Given the description of an element on the screen output the (x, y) to click on. 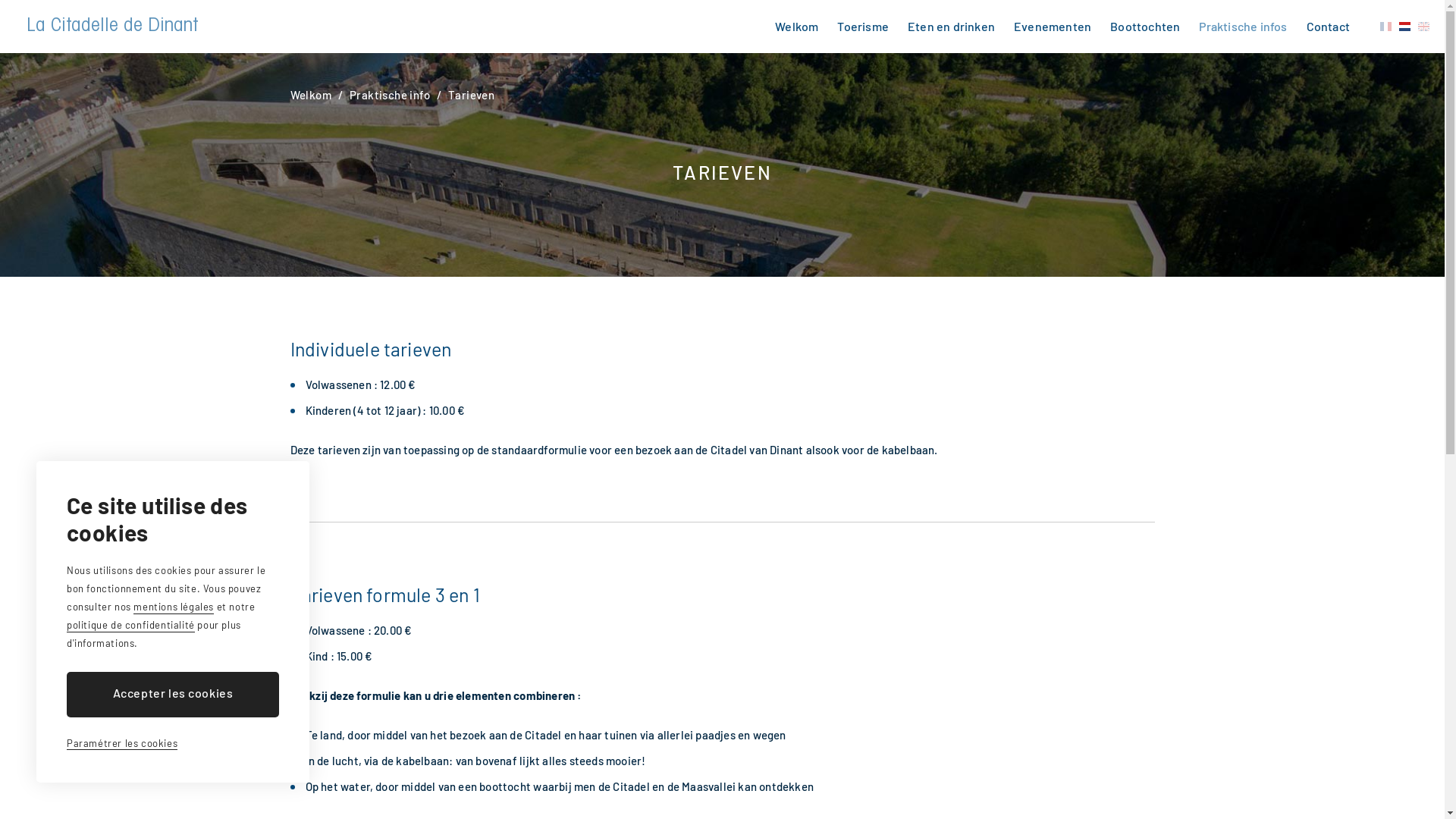
NL Element type: hover (1404, 26)
Toerisme Element type: text (862, 26)
Contact Element type: text (1327, 26)
Tarieven Element type: text (471, 94)
La Citadelle de Dinant Element type: text (112, 26)
Praktische infos Element type: text (1242, 26)
FR Element type: hover (1385, 26)
Evenementen Element type: text (1052, 26)
Welkom Element type: text (309, 94)
EN Element type: hover (1423, 26)
Praktische info Element type: text (389, 94)
Eten en drinken Element type: text (950, 26)
Boottochten Element type: text (1144, 26)
Welkom Element type: text (796, 26)
